Given the description of an element on the screen output the (x, y) to click on. 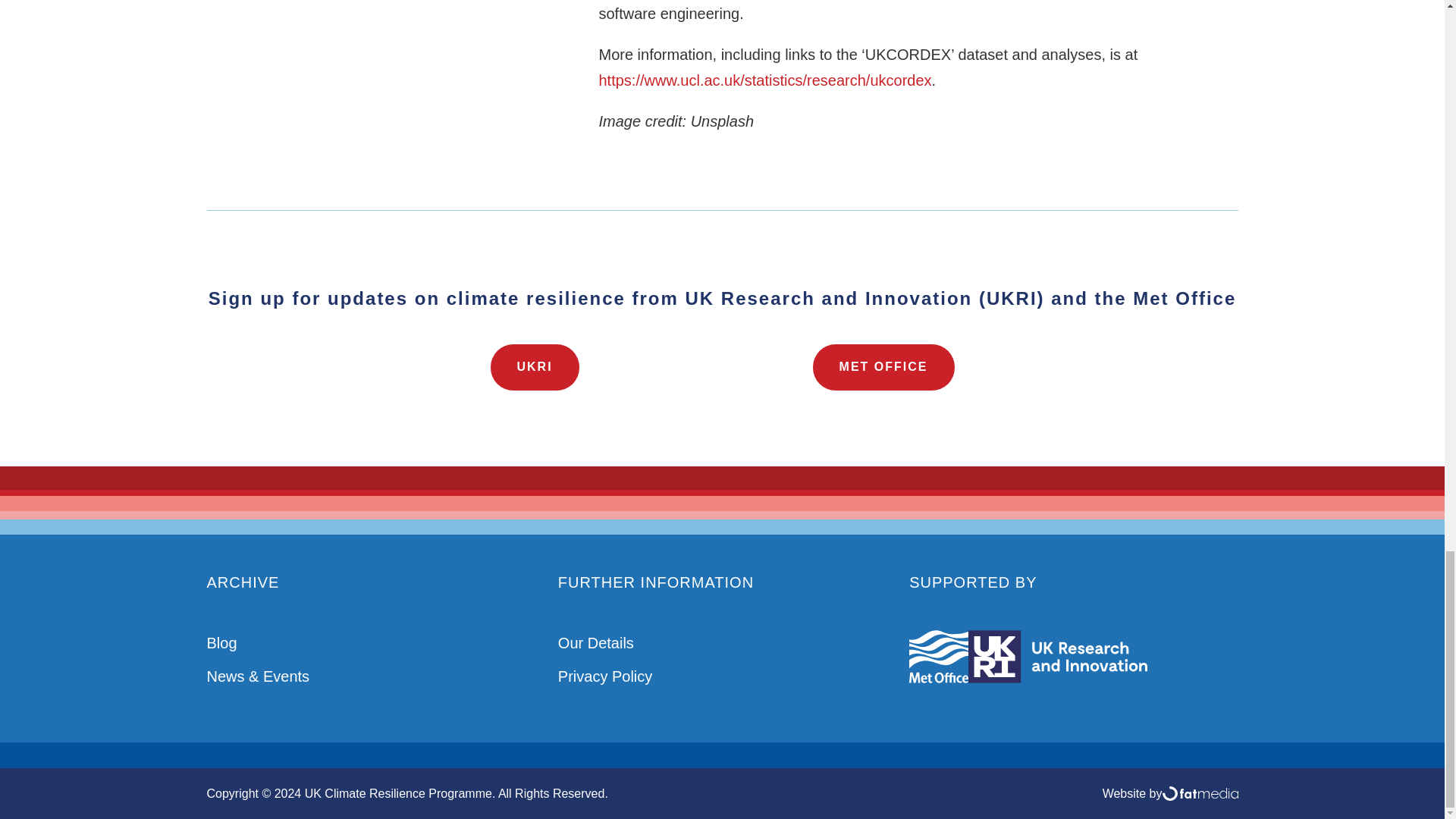
UKRI (533, 366)
MET OFFICE (883, 366)
